Given the description of an element on the screen output the (x, y) to click on. 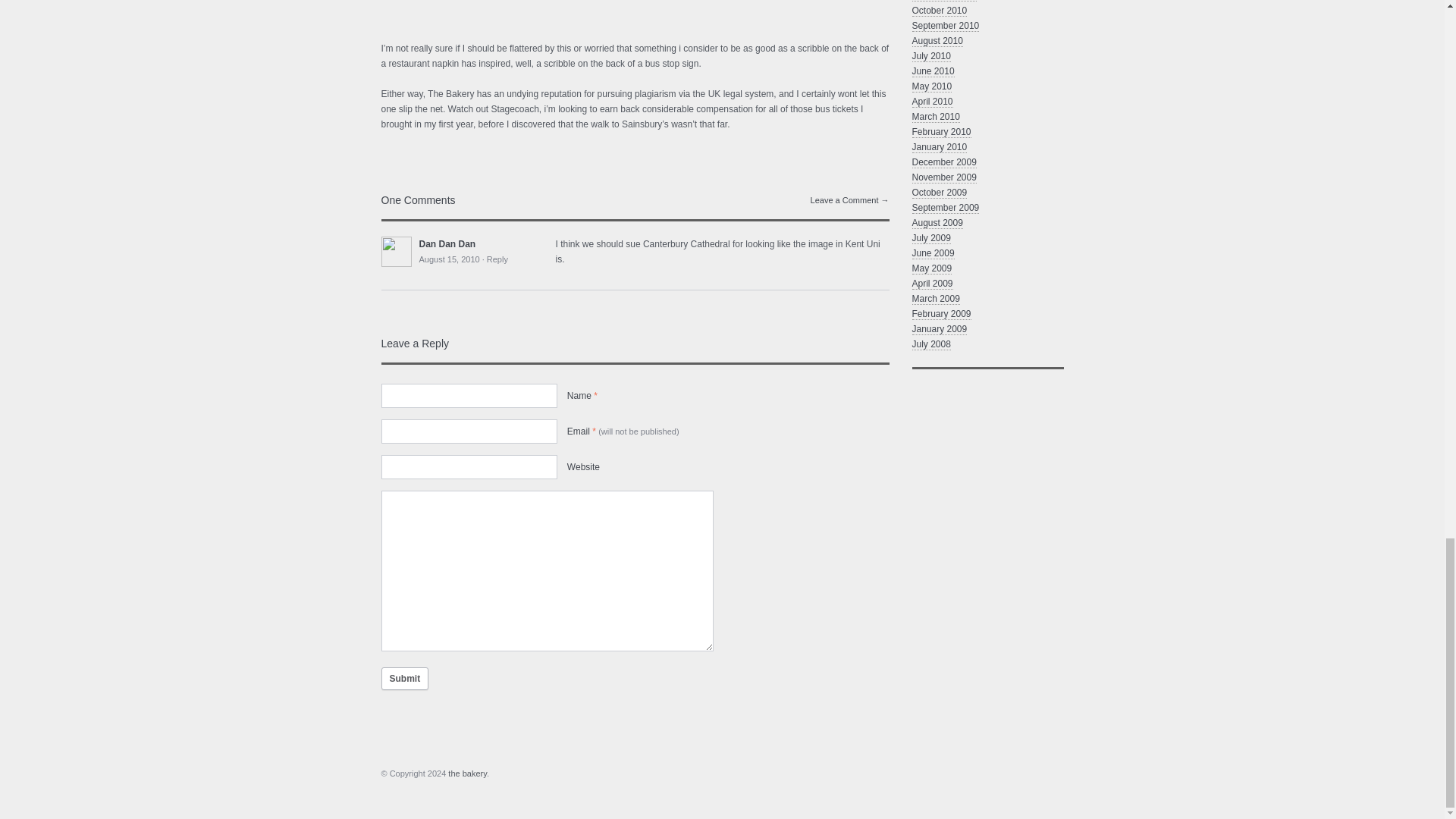
Reply (497, 258)
Submit (404, 678)
Submit (404, 678)
August 15, 2010 (449, 258)
